Given the description of an element on the screen output the (x, y) to click on. 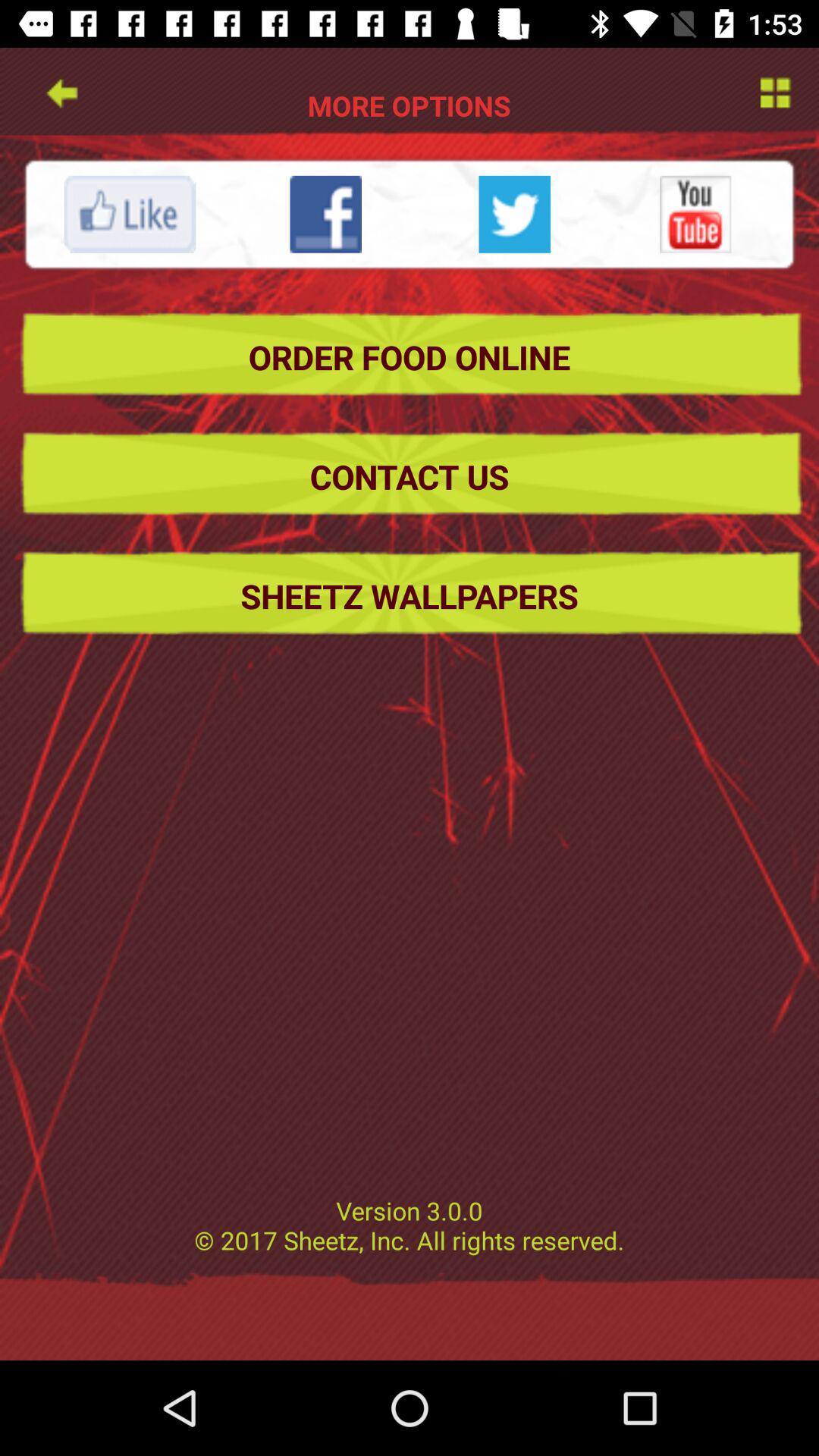
share on twitter (514, 214)
